Given the description of an element on the screen output the (x, y) to click on. 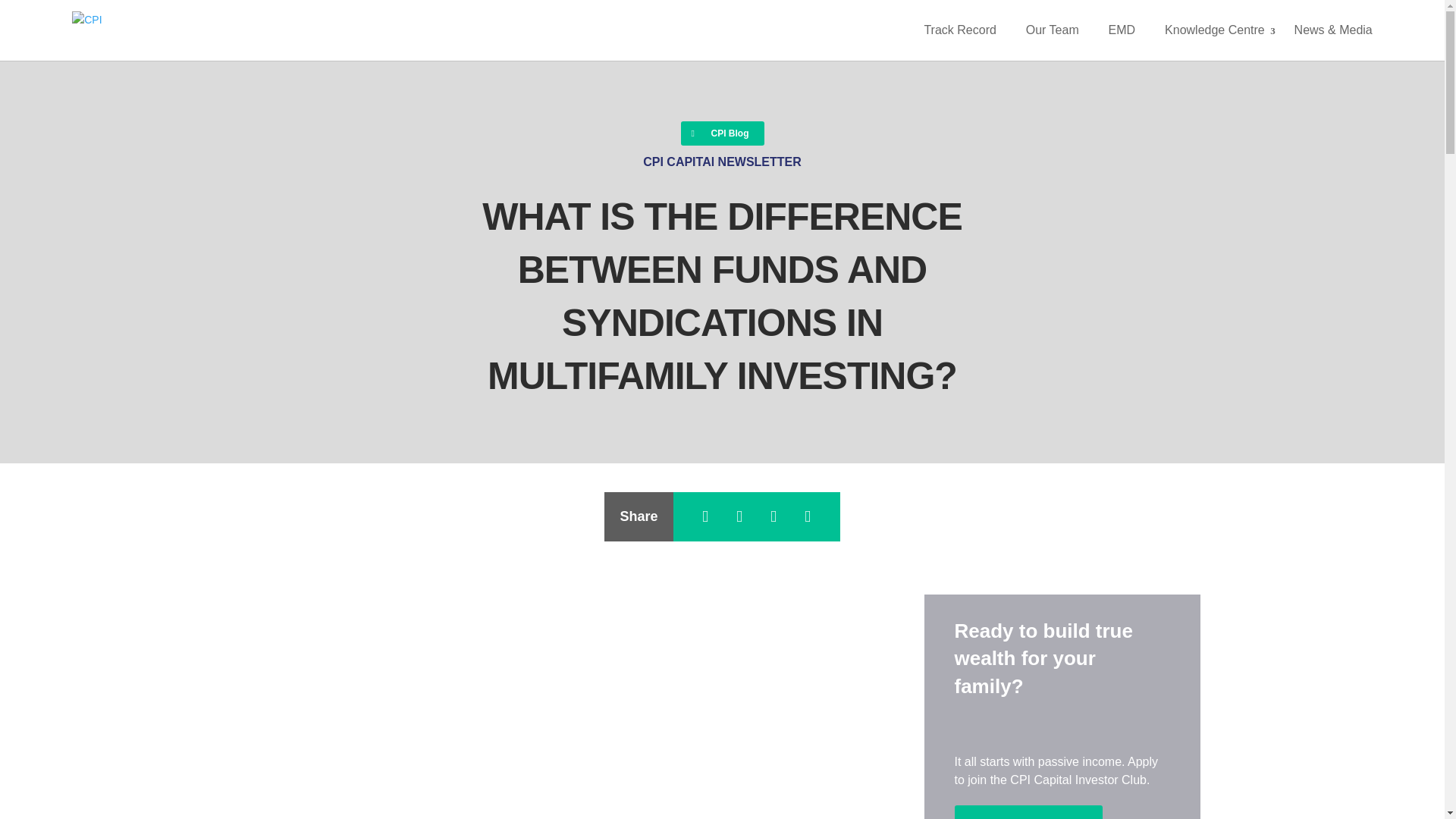
Knowledge Centre (1214, 30)
CPI CAPITAl NEWSLETTER (722, 162)
Track Record (959, 30)
GET STARTED NOW (1027, 812)
Search (138, 18)
Our Team (1052, 30)
